Given the description of an element on the screen output the (x, y) to click on. 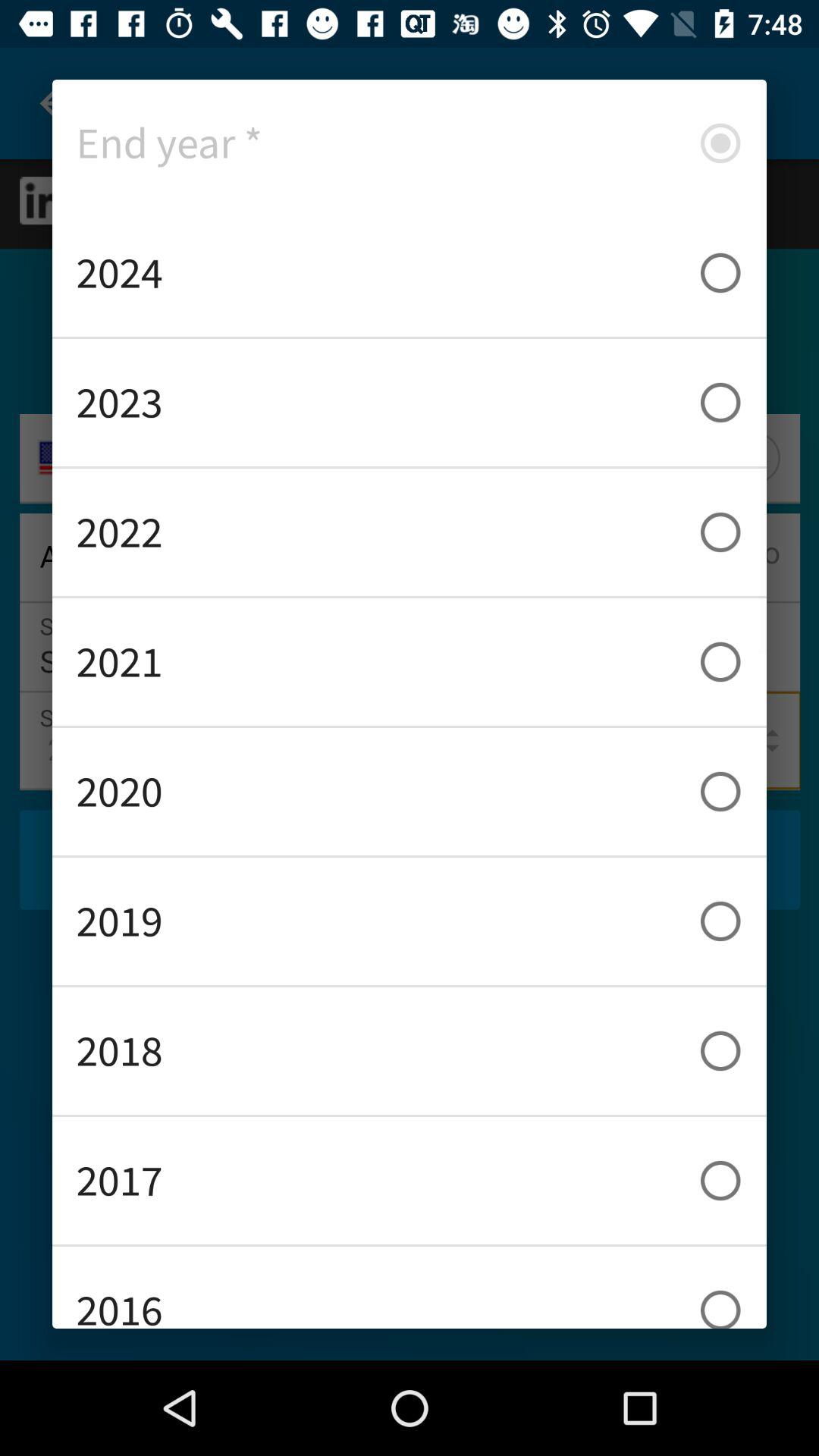
click the item above 2022 item (409, 402)
